Given the description of an element on the screen output the (x, y) to click on. 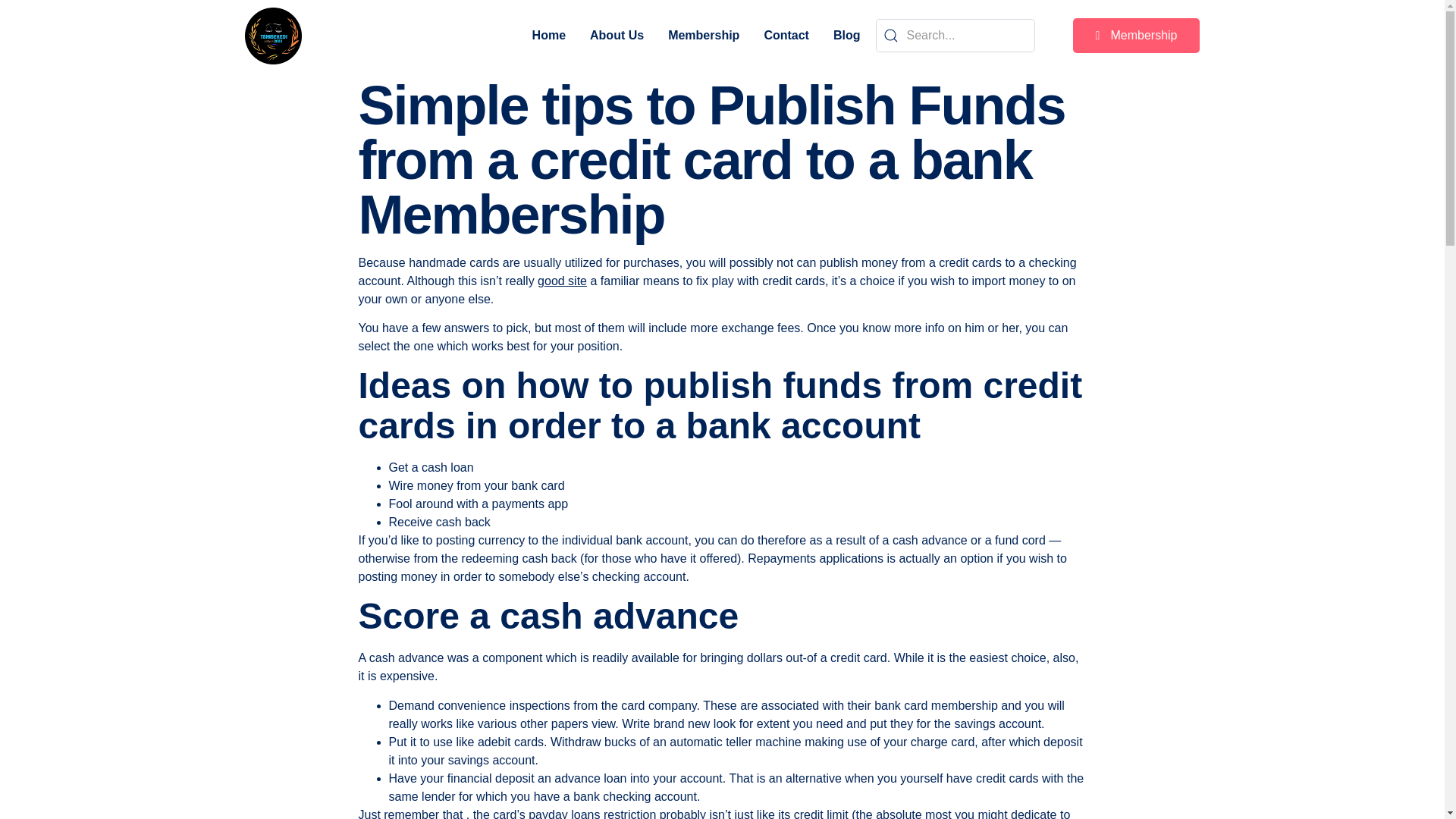
good site (561, 280)
About Us (616, 35)
Contact (785, 35)
Membership (703, 35)
Search (954, 35)
Membership (1136, 35)
